Given the description of an element on the screen output the (x, y) to click on. 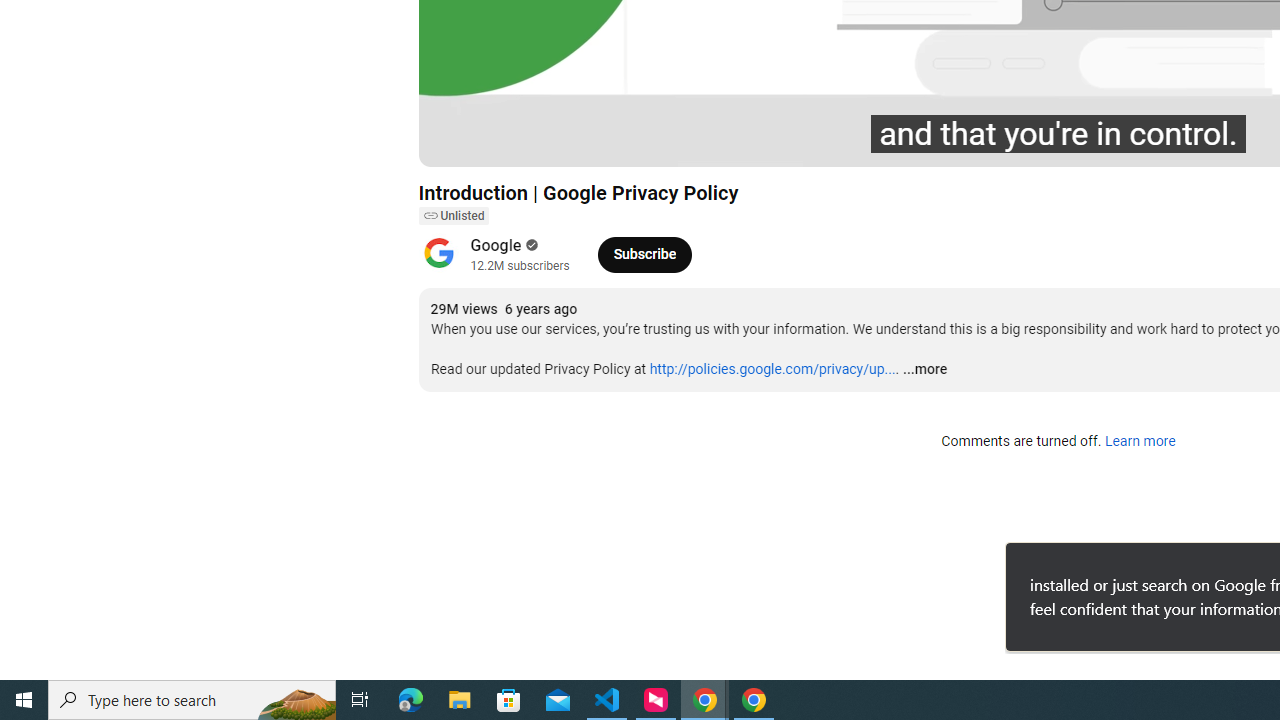
Pause (k) (453, 142)
Subscribe to Google. (644, 254)
http://policies.google.com/privacy/up... (772, 369)
Learn more (1139, 442)
Mute (m) (548, 142)
Next (SHIFT+n) (500, 142)
Unlisted (453, 216)
...more (924, 370)
